Given the description of an element on the screen output the (x, y) to click on. 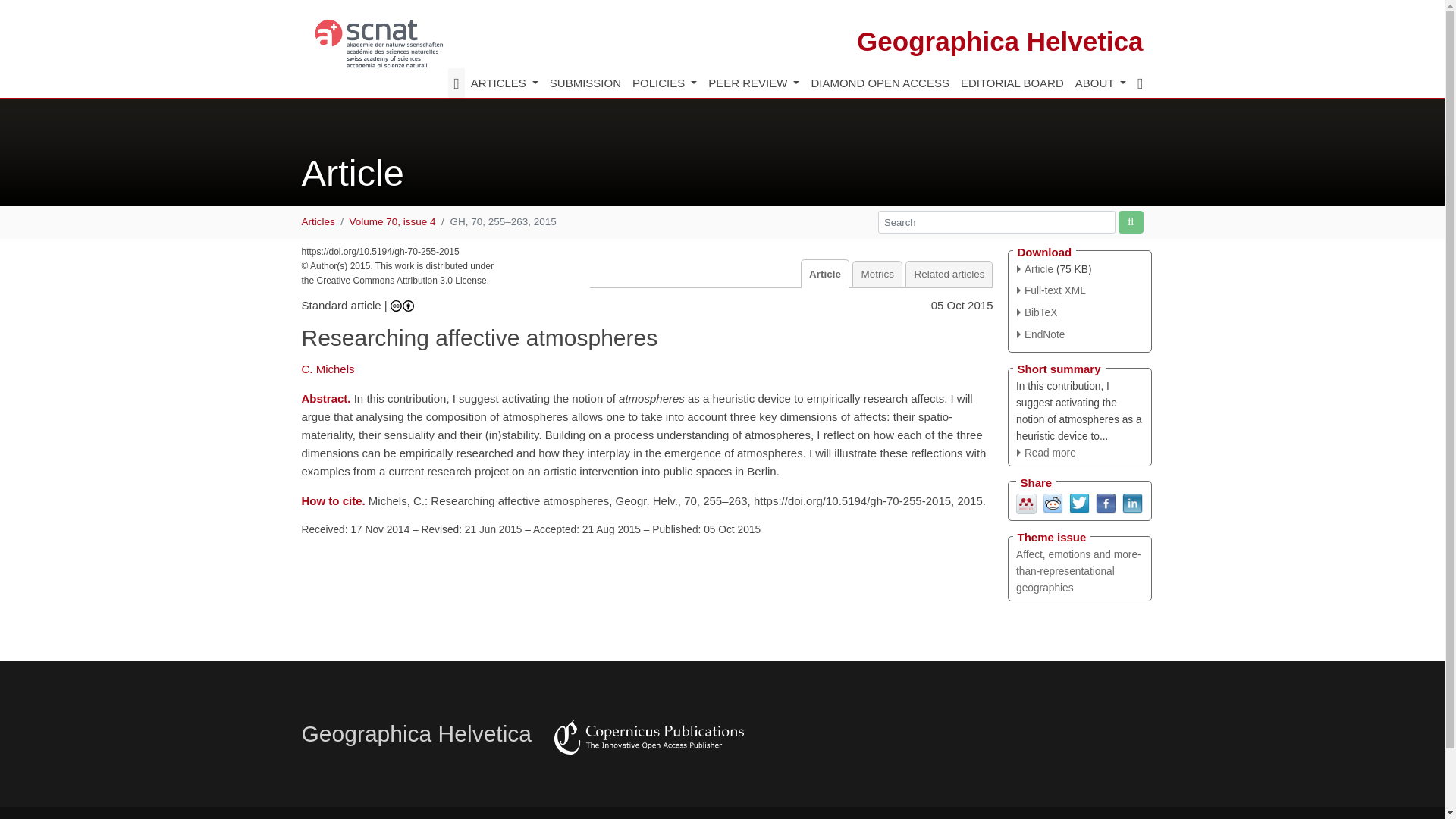
XML Version (1051, 290)
PEER REVIEW (754, 83)
POLICIES (665, 83)
Geographica Helvetica (999, 41)
Twitter (1078, 502)
ARTICLES (503, 83)
DIAMOND OPEN ACCESS (880, 83)
SUBMISSION (584, 83)
Start site search (1130, 221)
Mendeley (1026, 502)
Reddit (1052, 502)
